Given the description of an element on the screen output the (x, y) to click on. 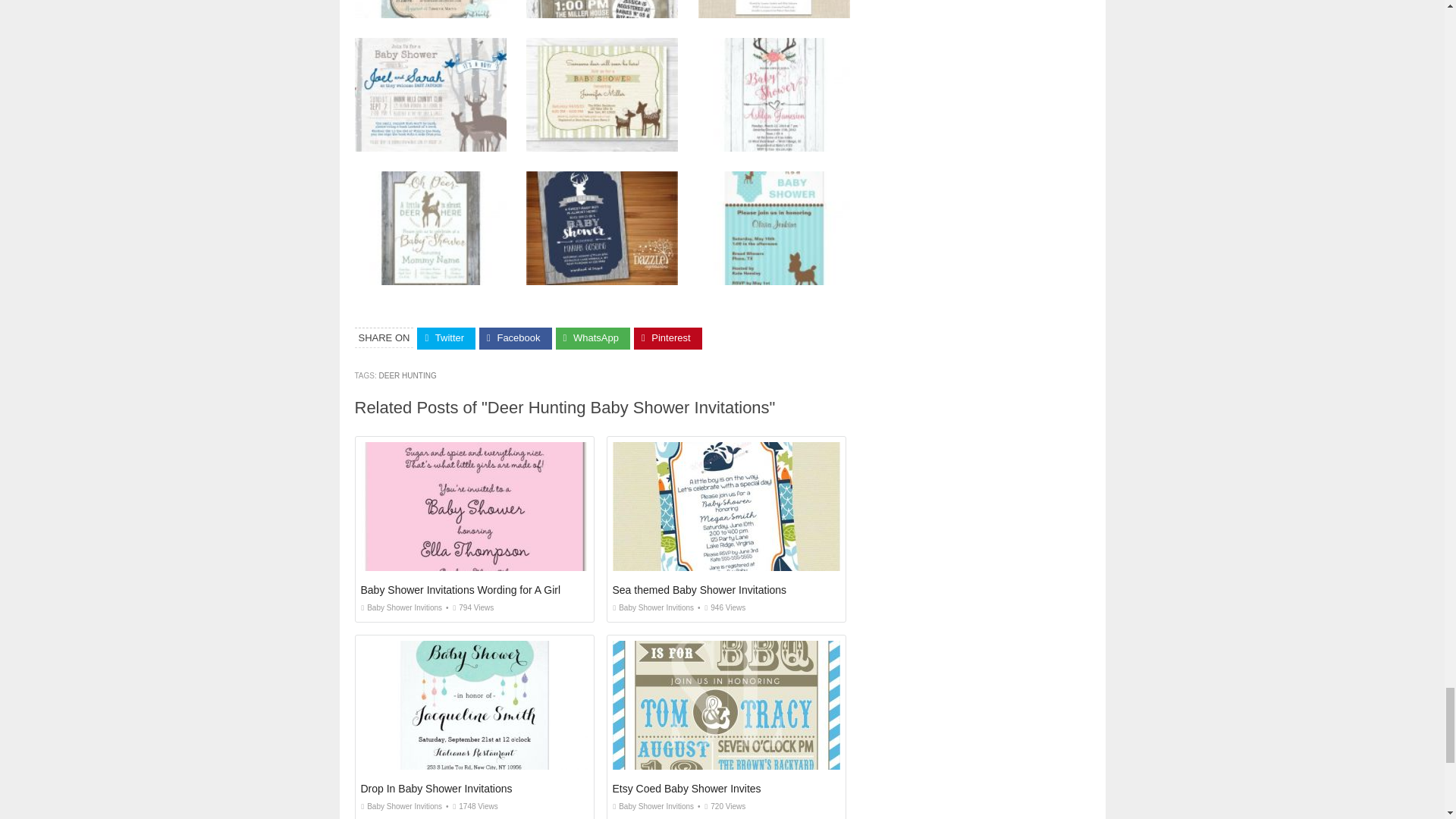
Baby Shower Invitations Wording for A Girl (460, 589)
Pinterest (667, 338)
DEER HUNTING (407, 375)
WhatsApp (593, 338)
Baby Shower Invitions (401, 806)
Twitter (446, 338)
Baby Shower Invitions (653, 607)
Etsy Coed Baby Shower Invites (686, 788)
Drop In Baby Shower Invitations (436, 788)
Facebook (515, 338)
Baby Shower Invitions (401, 607)
Sea themed Baby Shower Invitations (699, 589)
